Given the description of an element on the screen output the (x, y) to click on. 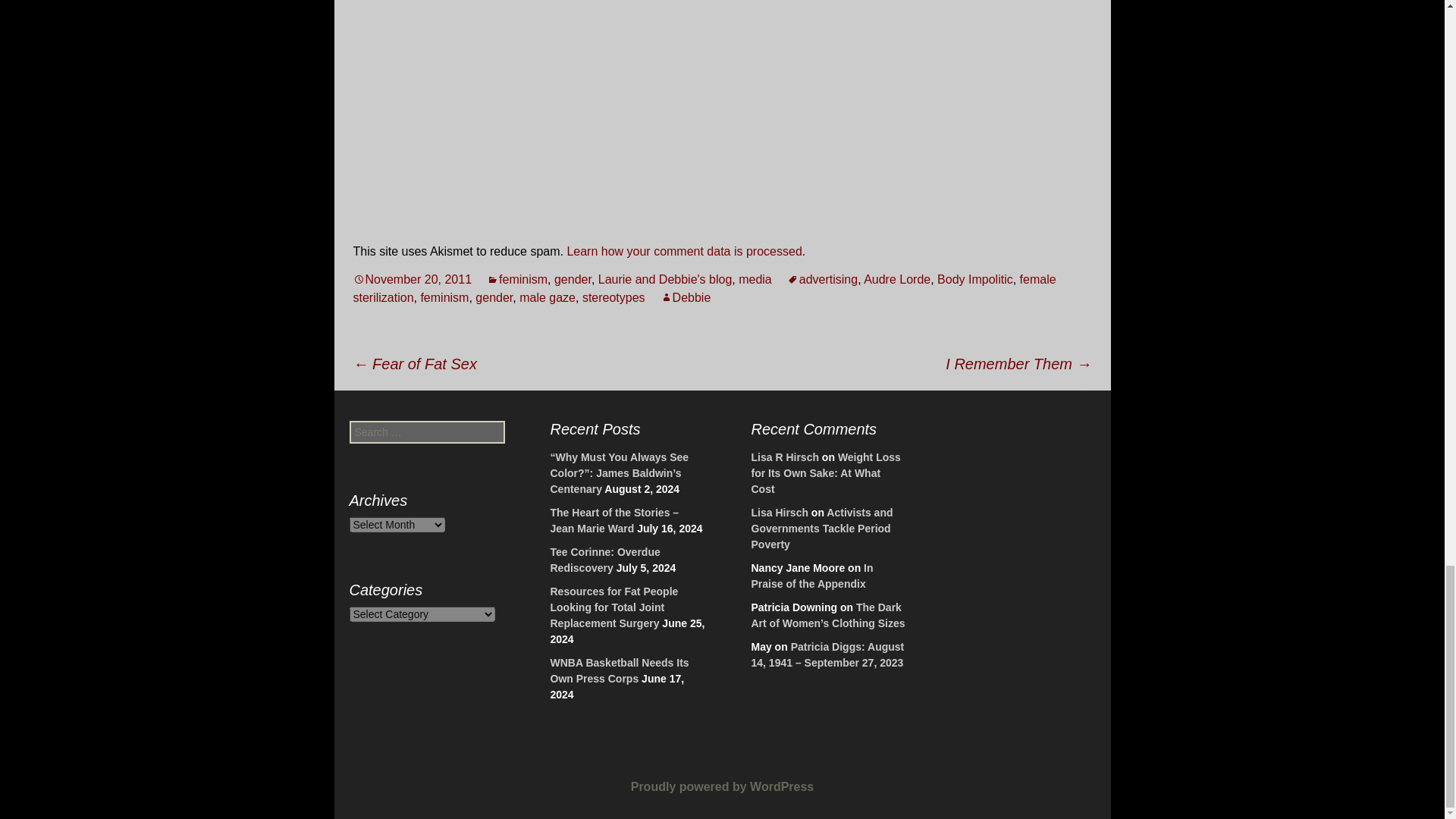
media (754, 278)
Audre Lorde (896, 278)
gender (572, 278)
Comment Form (721, 110)
View all posts by Debbie (686, 297)
Body Impolitic (975, 278)
advertising (822, 278)
November 20, 2011 (412, 278)
Laurie and Debbie's blog (665, 278)
Learn how your comment data is processed (684, 250)
